Given the description of an element on the screen output the (x, y) to click on. 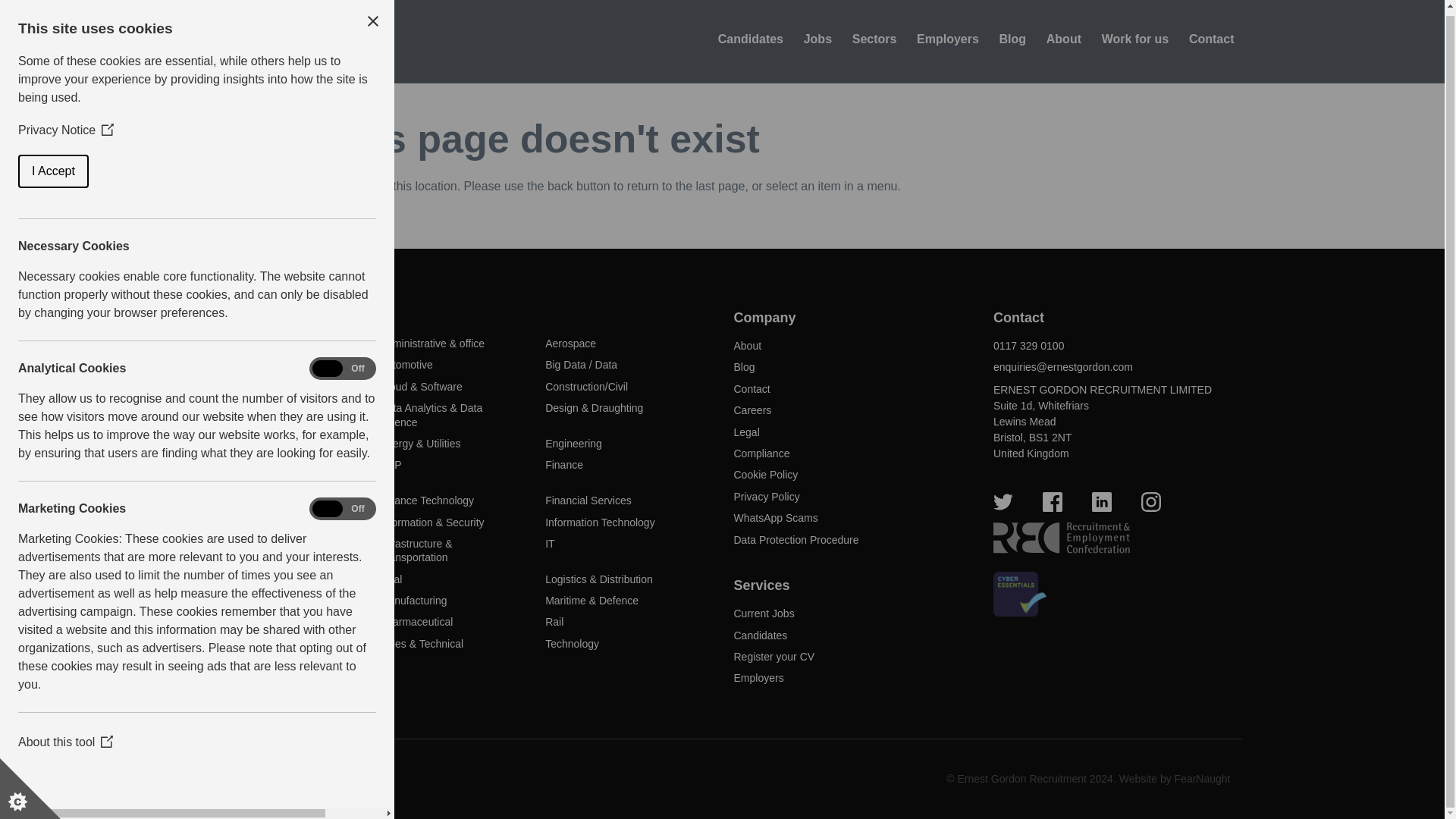
ERP (390, 464)
Business Intelligence (264, 386)
Human Resources (257, 521)
Engineering (573, 443)
Finance (563, 464)
Finance Marketing (257, 500)
Aerospace (569, 343)
Work for us (1135, 40)
Jobs (818, 40)
Infrastructure (245, 543)
Candidates (750, 40)
Automotive (406, 364)
Financial Services (587, 500)
Information Technology (599, 521)
About (1064, 40)
